Given the description of an element on the screen output the (x, y) to click on. 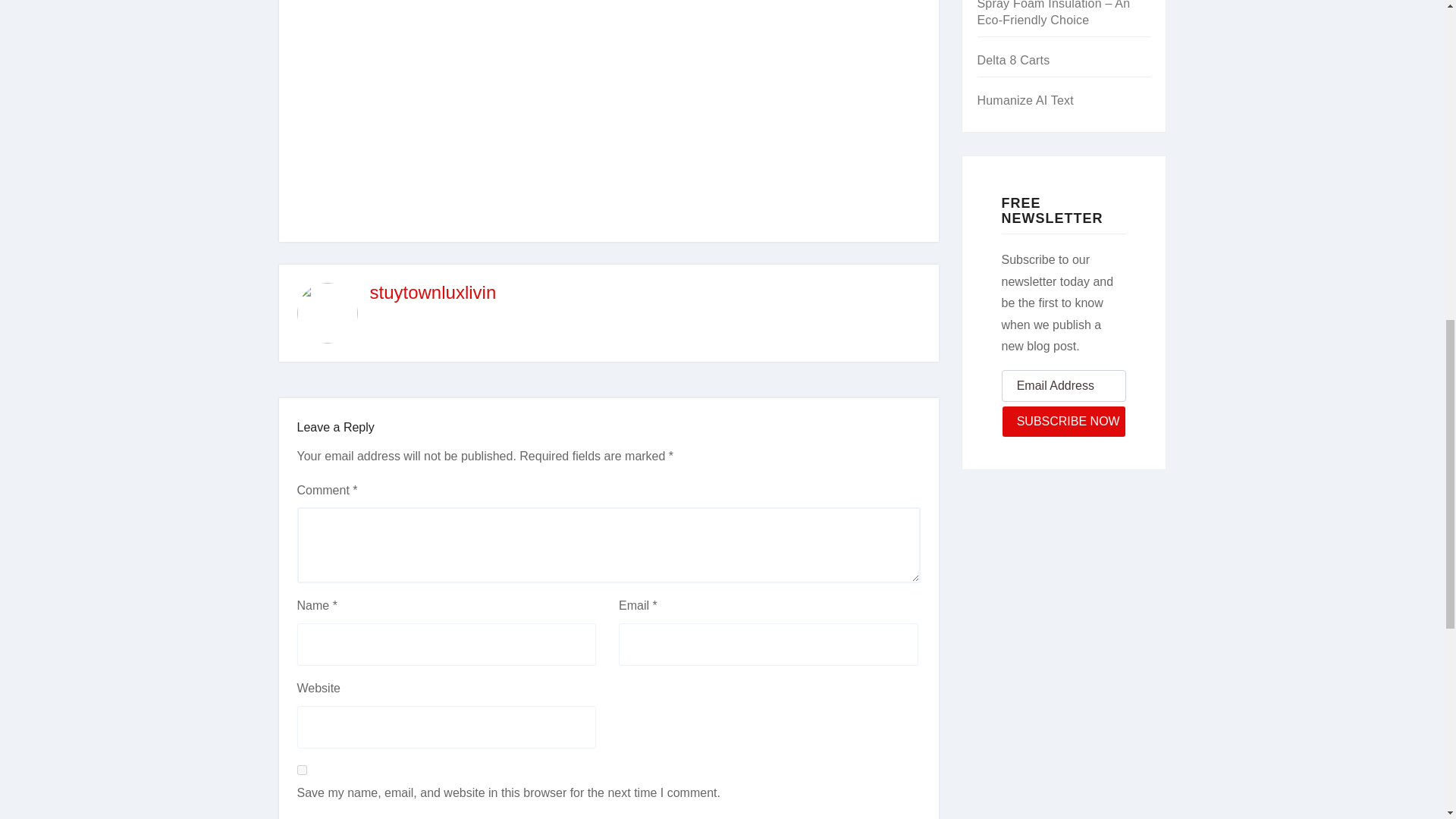
SUBSCRIBE NOW (1063, 421)
Humanize AI Text (1024, 100)
stuytownluxlivin (432, 291)
yes (302, 769)
Delta 8 Carts (1012, 60)
SUBSCRIBE NOW (1063, 421)
